Given the description of an element on the screen output the (x, y) to click on. 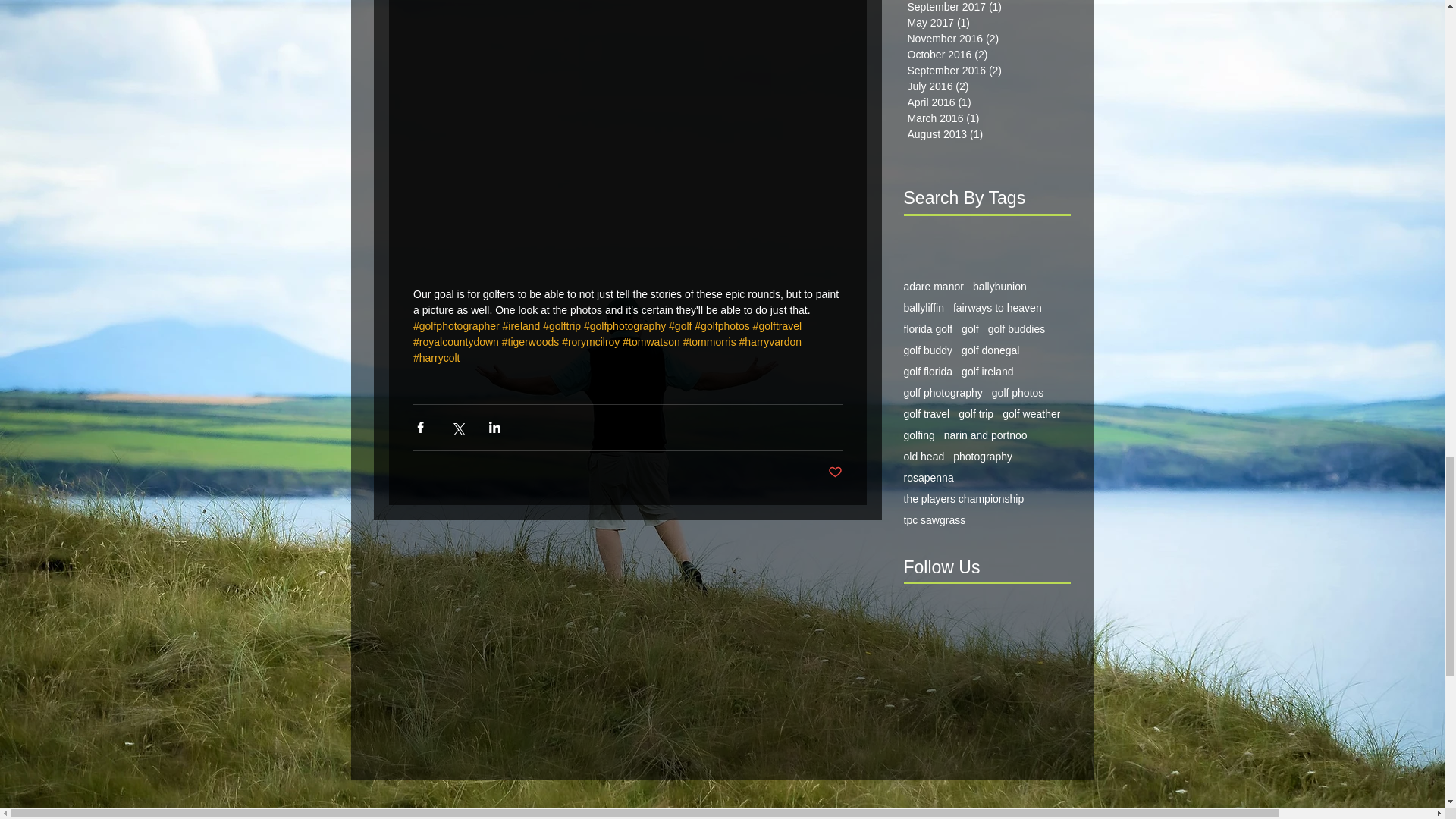
Post not marked as liked (835, 472)
